Given the description of an element on the screen output the (x, y) to click on. 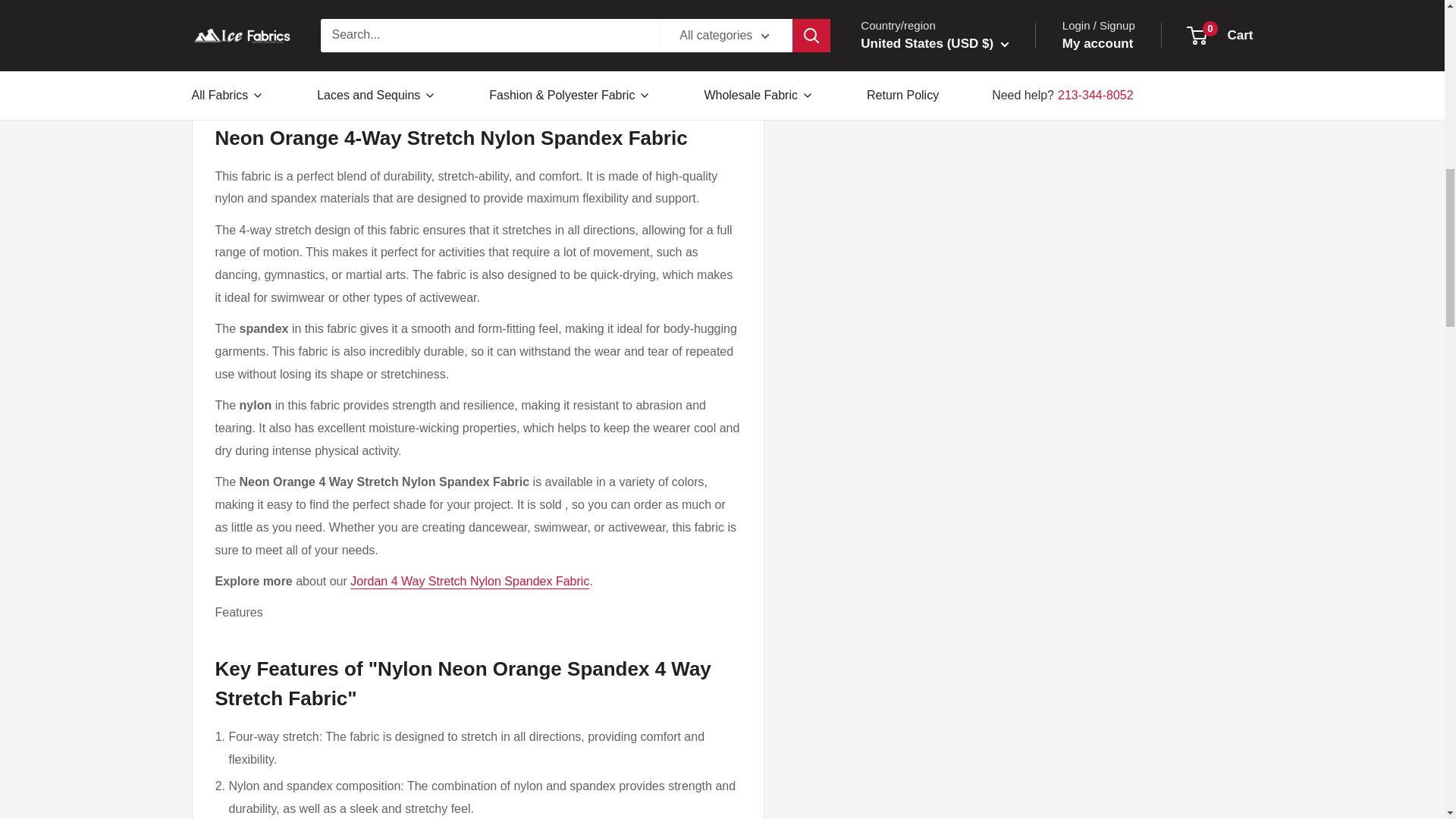
Jordan 4 Way Stretch Nylon Spandex Fabric - Ice Fabrics (469, 581)
Spandex Fabric - Ice Fabrics (408, 58)
